Given the description of an element on the screen output the (x, y) to click on. 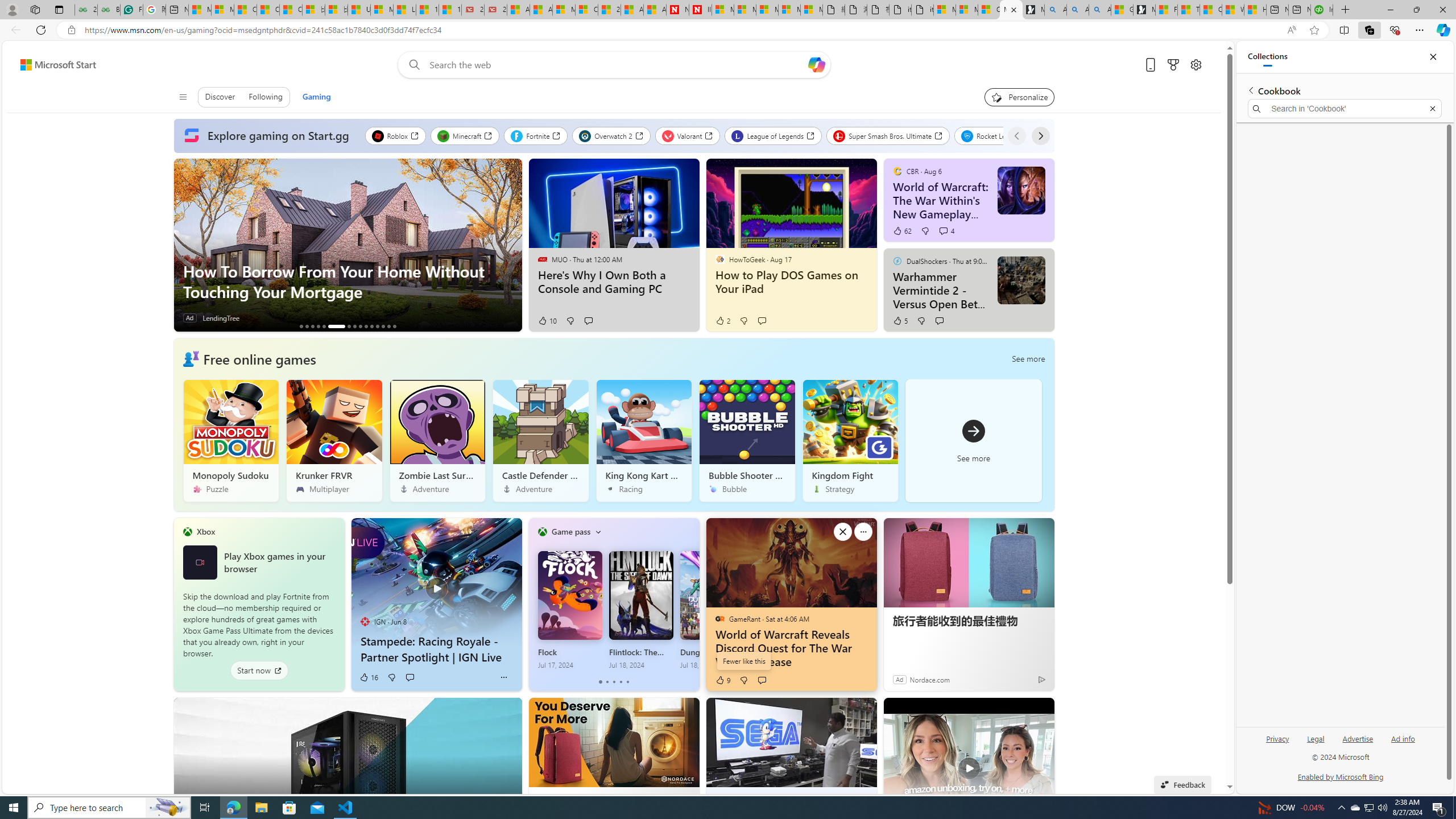
Fortnite (535, 135)
Dungeons Of Hinterberg Jul 18, 2024 (711, 610)
Rocket League (996, 135)
Next (1039, 135)
Class: next-flipper (693, 604)
Minecraft (464, 135)
Kingdom Fight (850, 440)
AutomationID: tab_nativead-infopane-14 (388, 326)
